Given the description of an element on the screen output the (x, y) to click on. 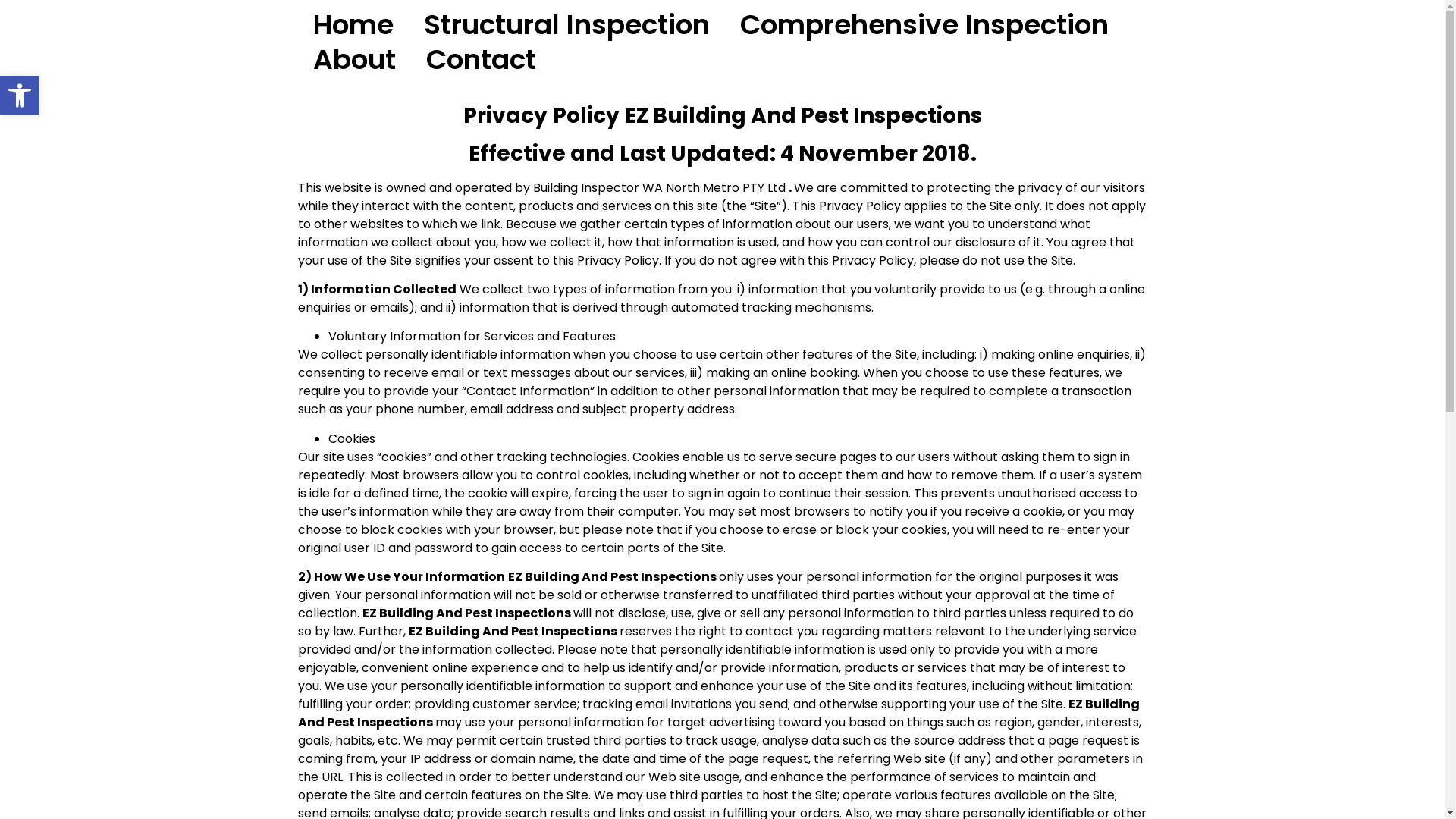
Structural Inspection Element type: text (565, 24)
Open toolbar
Accessibility Tools Element type: text (19, 95)
Comprehensive Inspection Element type: text (923, 24)
About Element type: text (353, 59)
Contact Element type: text (481, 59)
Home Element type: text (352, 24)
